Given the description of an element on the screen output the (x, y) to click on. 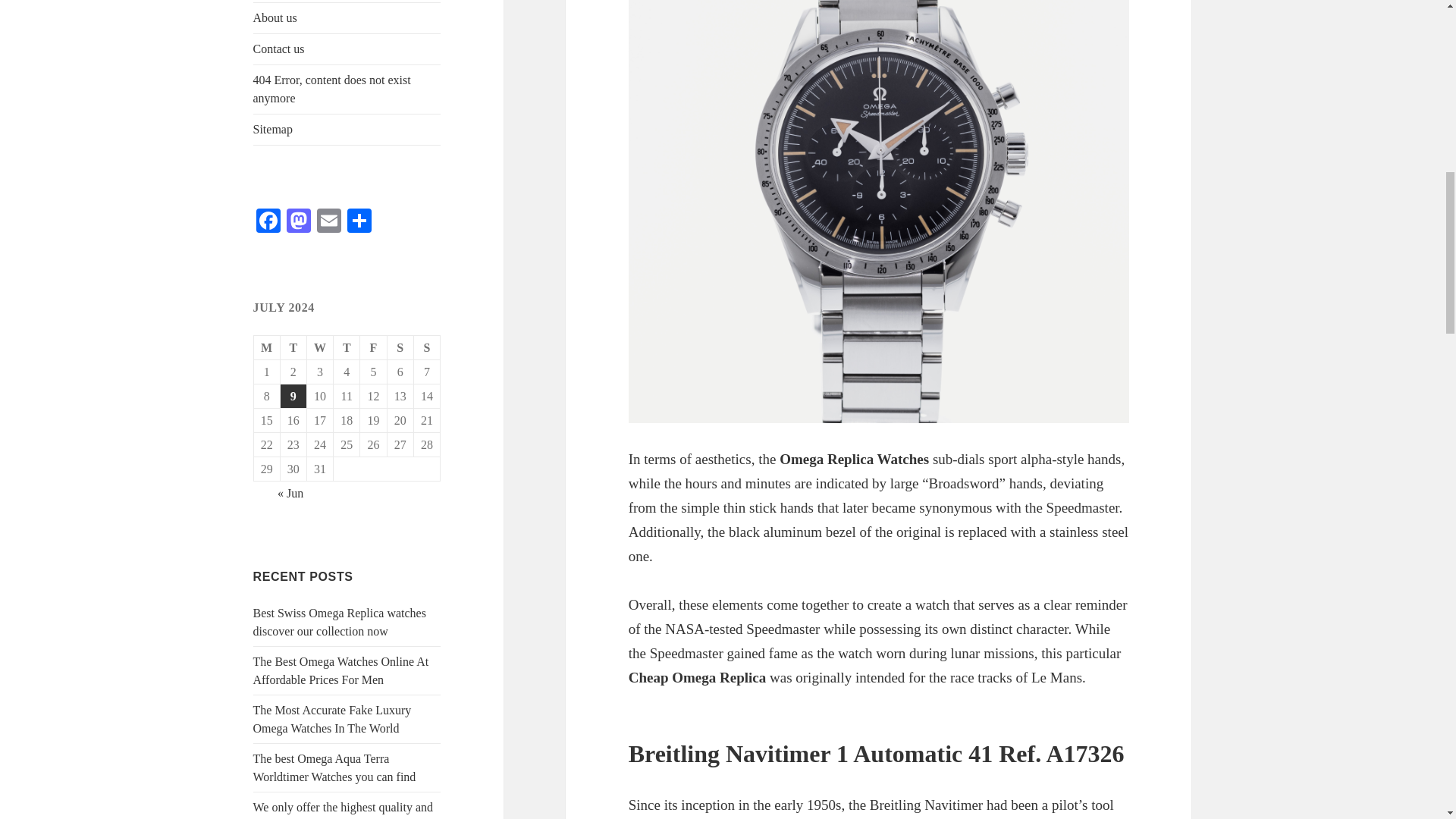
Wednesday (320, 347)
Facebook (268, 222)
Saturday (400, 347)
Email (328, 222)
Email (328, 222)
Friday (373, 347)
Mastodon (298, 222)
Best Swiss Omega Replica watches discover our collection now (339, 622)
Sunday (427, 347)
About us (347, 18)
Monday (267, 347)
404 Error, content does not exist anymore (347, 89)
Tuesday (294, 347)
Share (358, 222)
Thursday (346, 347)
